Given the description of an element on the screen output the (x, y) to click on. 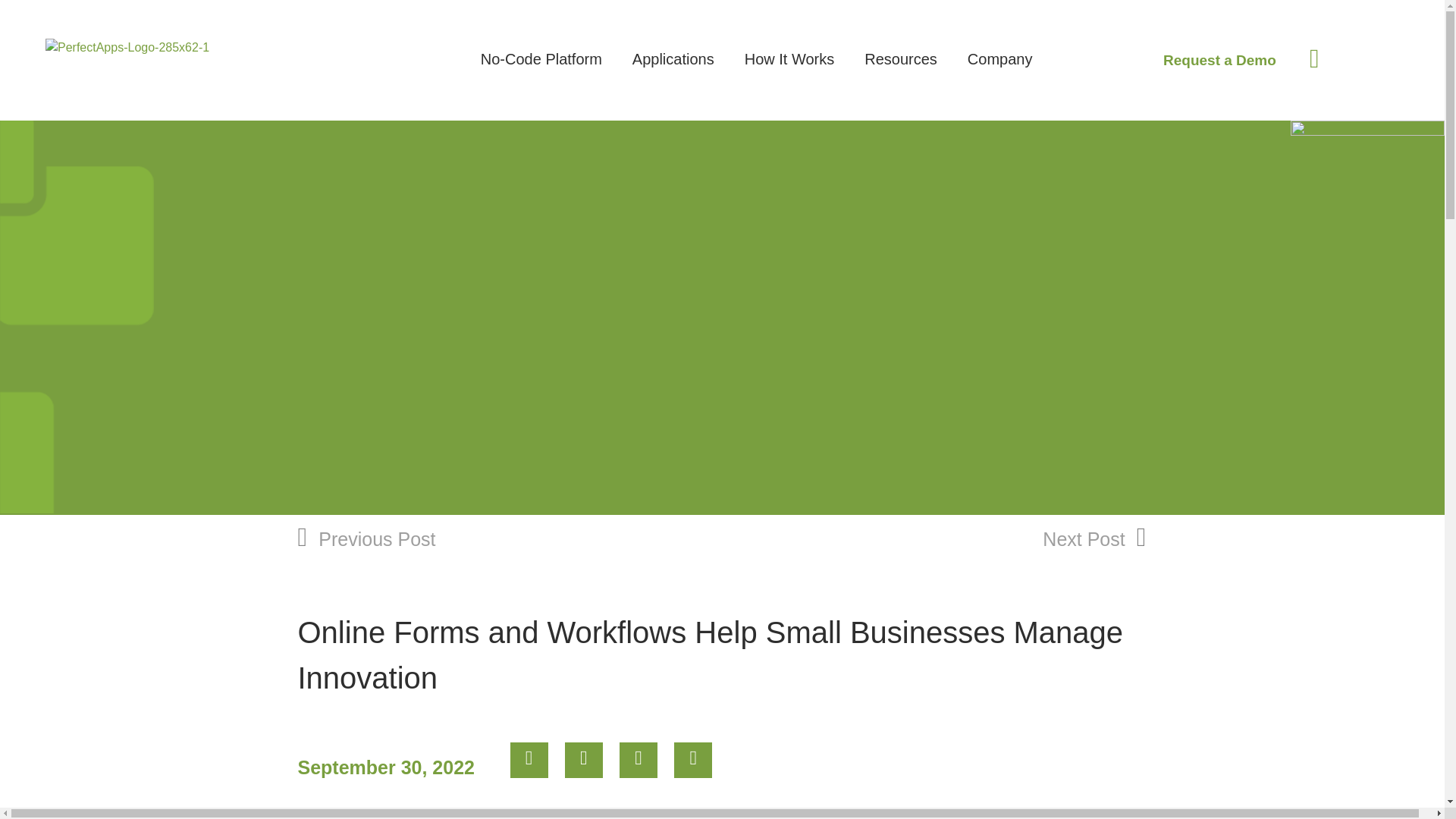
No-Code Platform (541, 72)
How It Works (789, 72)
Applications (672, 72)
Resources (900, 72)
Company (1000, 72)
